Given the description of an element on the screen output the (x, y) to click on. 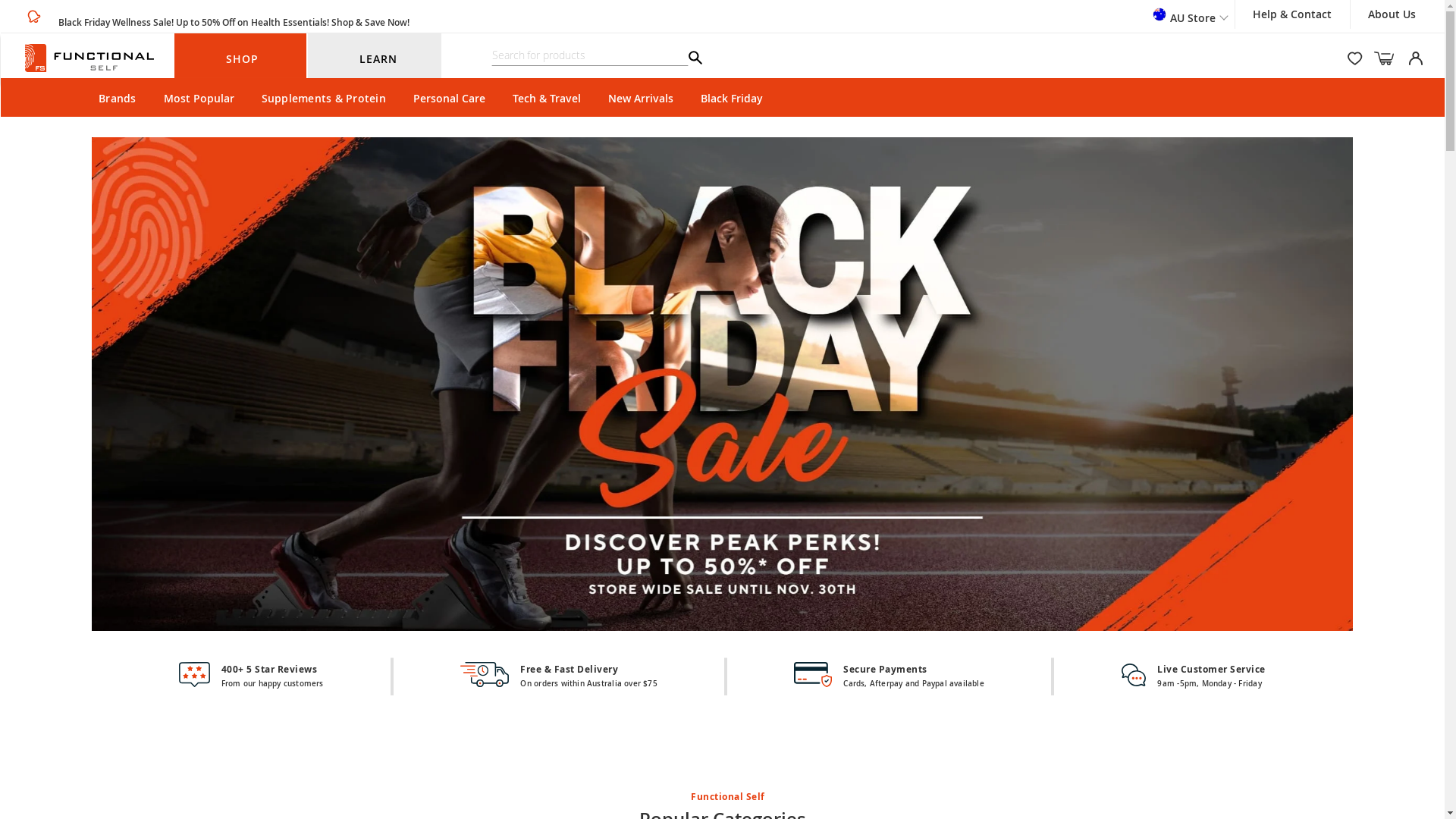
Black Friday Element type: text (731, 98)
Shop All Products Element type: text (722, 654)
LEARN Element type: text (377, 58)
Shop & Save Now! Element type: text (369, 21)
Supplements & Protein Element type: text (322, 98)
Help & Contact Element type: text (1292, 13)
Personal Care Element type: text (467, 542)
Proteins & Supplements Element type: text (1231, 542)
Personal Care Element type: text (448, 98)
Tech & Travel Element type: text (546, 98)
New Arrivals Element type: text (640, 98)
Most Popular Element type: text (198, 98)
SHOP Element type: text (242, 58)
Best Sellers Element type: text (404, 758)
About Us Element type: text (1391, 13)
Alitura Skincare Element type: text (212, 542)
Brands Element type: text (117, 98)
Rosita Real Foods Element type: text (722, 545)
Special Offers Element type: text (1029, 758)
